Given the description of an element on the screen output the (x, y) to click on. 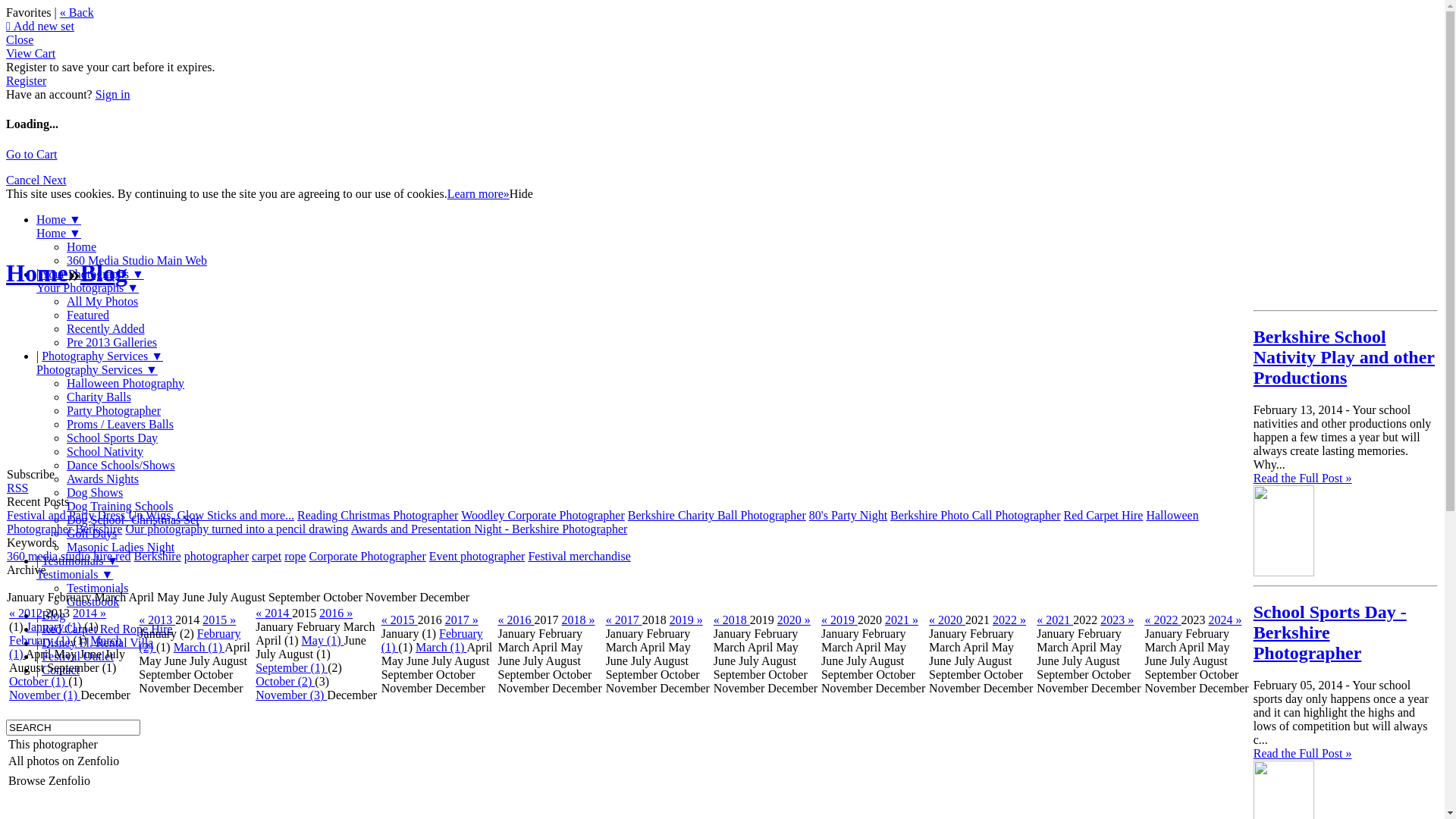
Awards Nights Element type: text (102, 478)
October (2) Element type: text (284, 680)
February (1) Element type: text (432, 640)
Our photography turned into a pencil drawing Element type: text (236, 528)
Halloween Photographer Berkshire Element type: text (602, 521)
Festival Outlet Element type: text (77, 655)
Browse Zenfolio Element type: text (49, 780)
Blog Element type: text (103, 272)
Browse Zenfolio Element type: text (63, 780)
Recently Added Element type: text (105, 328)
Red Carpet Hire Element type: text (1103, 514)
Dog Shows Element type: text (94, 492)
All My Photos Element type: text (102, 300)
Golf Days Element type: text (91, 533)
Go to Cart Element type: text (31, 153)
Berkshire Element type: text (157, 555)
Corporate Photographer Element type: text (367, 555)
360 Media Studio Main Web Element type: text (136, 260)
Home Element type: text (37, 272)
School Nativity Element type: text (104, 451)
Proms / Leavers Balls Element type: text (119, 423)
November (1) Element type: text (44, 694)
October (1) Element type: text (38, 680)
Berkshire Photo Call Photographer Element type: text (975, 514)
Awards and Presentation Night - Berkshire Photographer Element type: text (489, 528)
Close Element type: text (19, 39)
rope Element type: text (294, 555)
red Element type: text (122, 555)
carpet Element type: text (266, 555)
This photographer Element type: text (52, 743)
View Cart Element type: text (30, 53)
Party Photographer Element type: text (113, 410)
February (1) Element type: text (40, 639)
Sign in Element type: text (112, 93)
September (1) Element type: text (291, 667)
Next Element type: text (53, 179)
March (1) Element type: text (441, 646)
Contact Element type: text (60, 669)
Dog Training Schools Element type: text (119, 505)
January (1) Element type: text (55, 626)
Testimonials Element type: text (97, 587)
Berkshire School Nativity Play and other Productions Element type: text (1343, 356)
All photos on Zenfolio Element type: text (63, 760)
Masonic Ladies Night Element type: text (120, 546)
March (1) Element type: text (199, 646)
Featured Element type: text (87, 314)
Register Element type: text (26, 80)
80's Party Night Element type: text (848, 514)
Guestbook Element type: text (92, 601)
School Sports Day Element type: text (111, 437)
School Sports Day - Berkshire Photographer Element type: text (1329, 632)
Blog Element type: text (53, 614)
360 media studio Element type: text (48, 555)
Charity Balls Element type: text (98, 396)
All photos on Zenfolio Element type: text (63, 760)
Dog School- Christmas Set Element type: text (132, 519)
Festival and Party Dress Up Wigs, Glow Sticks and more... Element type: text (150, 514)
photographer Element type: text (216, 555)
Dance Schools/Shows Element type: text (120, 464)
March (1) Element type: text (65, 646)
May (1) Element type: text (322, 639)
February (2) Element type: text (189, 640)
Red Carpet Red Rope Hire Element type: text (106, 628)
November (3) Element type: text (290, 694)
Pre 2013 Galleries Element type: text (111, 341)
Berkshire Charity Ball Photographer Element type: text (716, 514)
Festival merchandise Element type: text (578, 555)
RSS Element type: text (17, 487)
Disney Fl. Rental Villa Element type: text (97, 642)
hire Element type: text (102, 555)
Hide Element type: text (521, 193)
Home Element type: text (81, 246)
Reading Christmas Photographer Element type: text (377, 514)
This photographer Element type: text (63, 744)
Woodley Corporate Photographer Element type: text (542, 514)
Cancel Element type: text (24, 179)
Event photographer Element type: text (477, 555)
Halloween Photography Element type: text (125, 382)
